Given the description of an element on the screen output the (x, y) to click on. 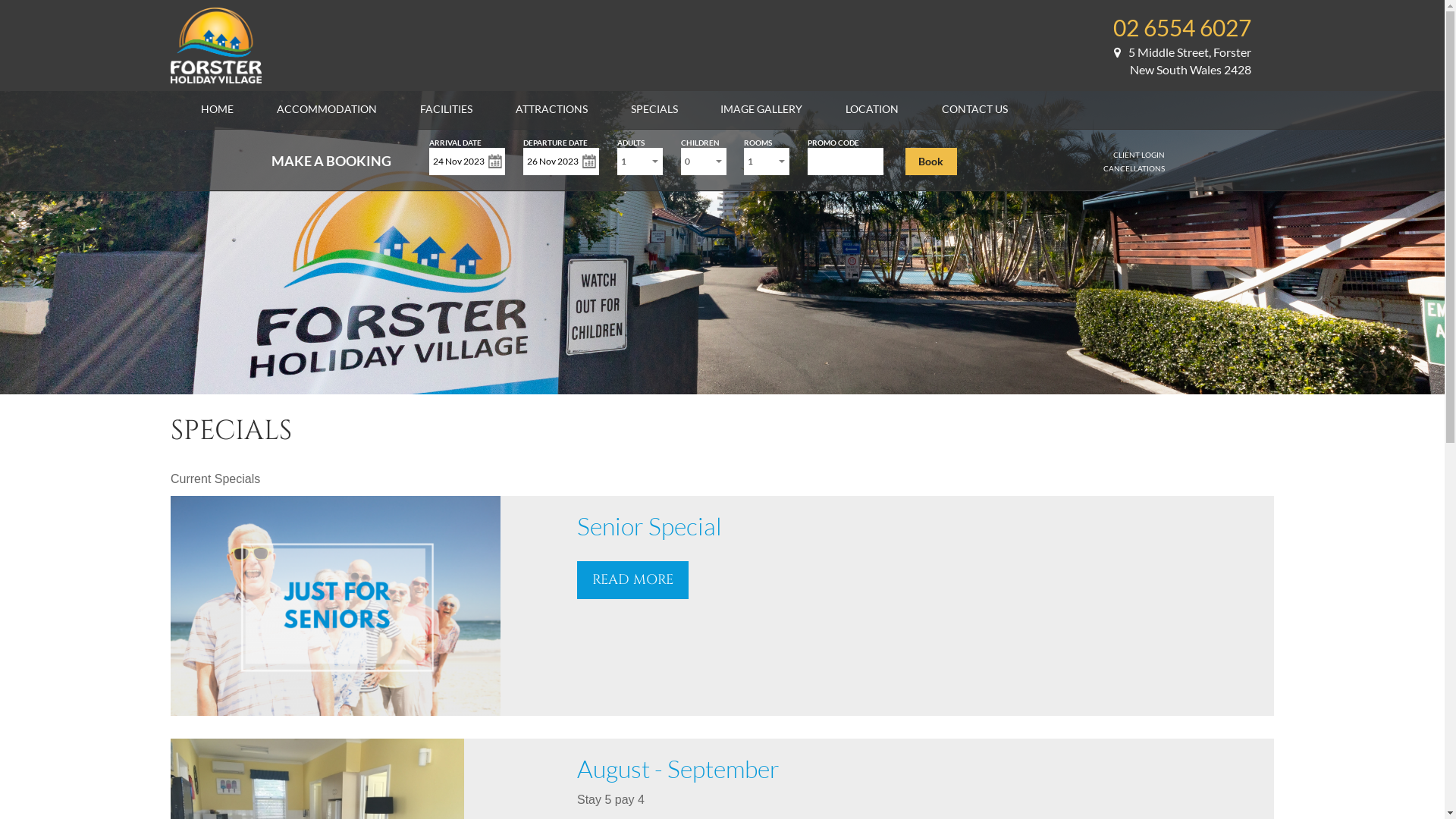
READ MORE Element type: text (632, 580)
LOCATION Element type: text (871, 109)
ACCOMMODATION Element type: text (326, 109)
5 Middle Street, Forster
New South Wales 2428 Element type: text (1182, 60)
CANCELLATIONS Element type: text (1133, 167)
HOME Element type: text (216, 109)
Senior Special Element type: text (649, 525)
02 6554 6027 Element type: text (1182, 26)
CONTACT US Element type: text (974, 109)
IMAGE GALLERY Element type: text (761, 109)
August - September Element type: text (678, 768)
FACILITIES Element type: text (446, 109)
Book Element type: text (931, 161)
CLIENT LOGIN Element type: text (1138, 154)
ATTRACTIONS Element type: text (551, 109)
SPECIALS Element type: text (653, 109)
